Given the description of an element on the screen output the (x, y) to click on. 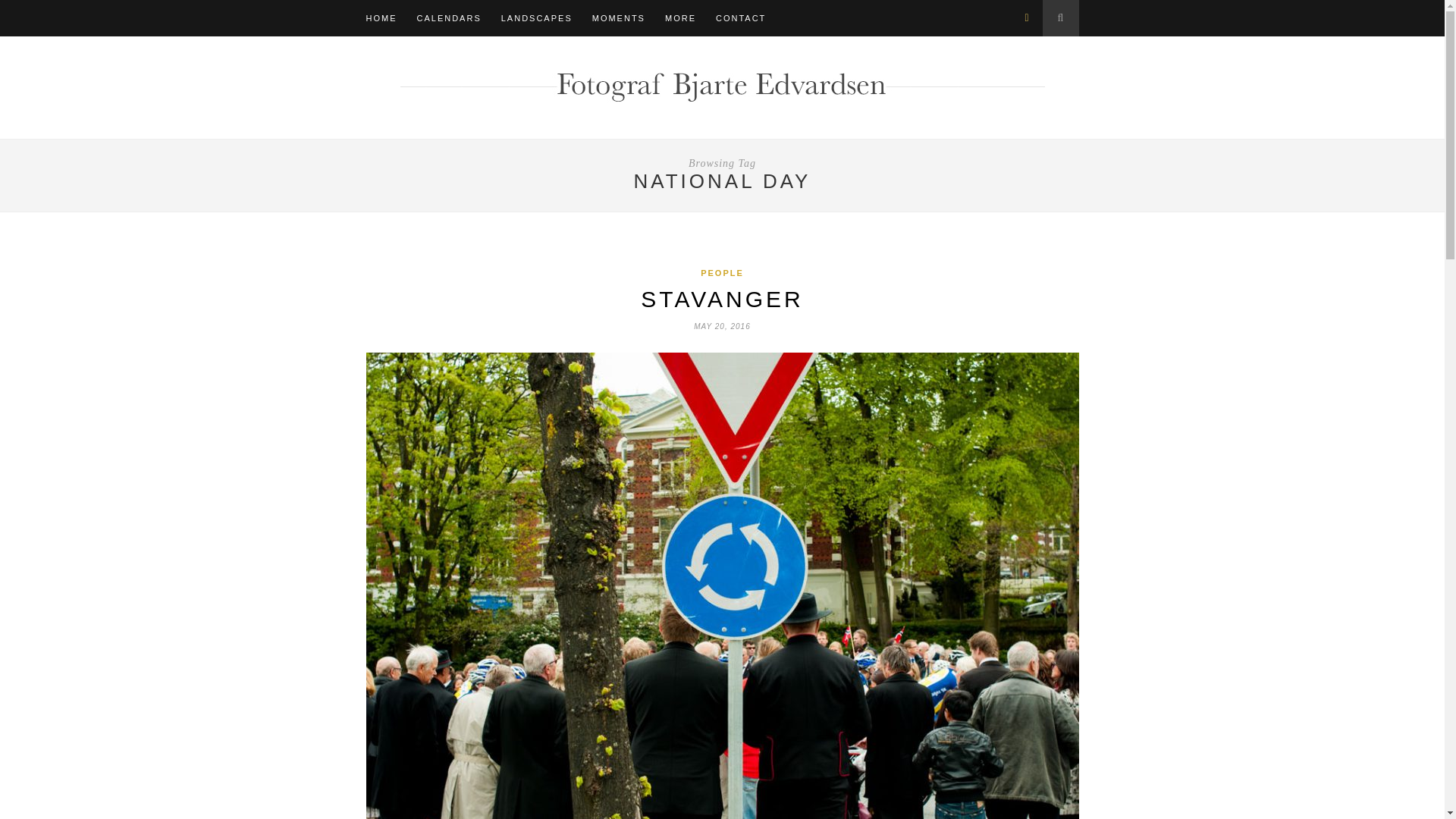
PEOPLE (722, 272)
View all posts in People (722, 272)
LANDSCAPES (536, 18)
CALENDARS (448, 18)
CONTACT (740, 18)
MOMENTS (618, 18)
Buy calendars (448, 18)
STAVANGER (721, 299)
